Given the description of an element on the screen output the (x, y) to click on. 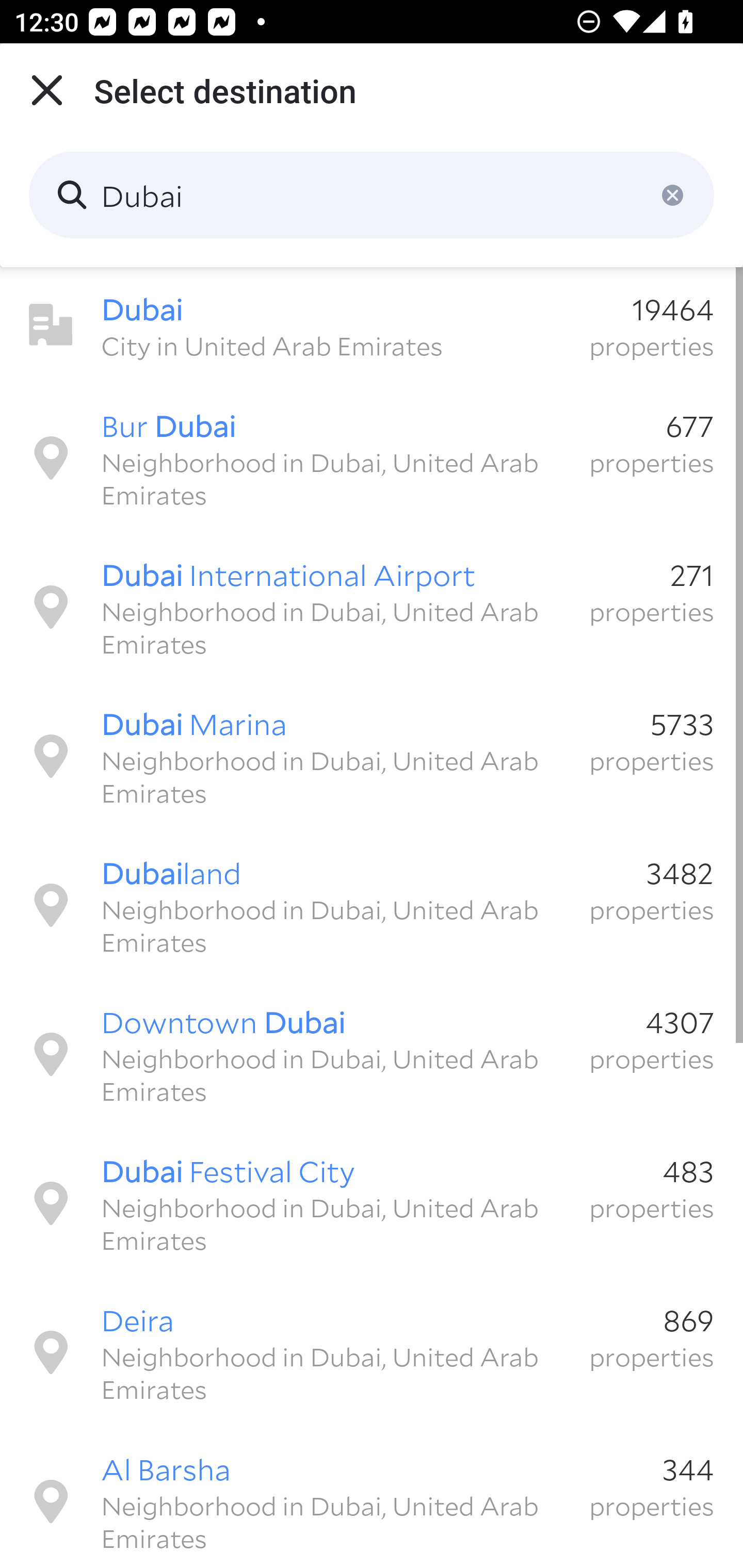
Dubai (371, 195)
